Given the description of an element on the screen output the (x, y) to click on. 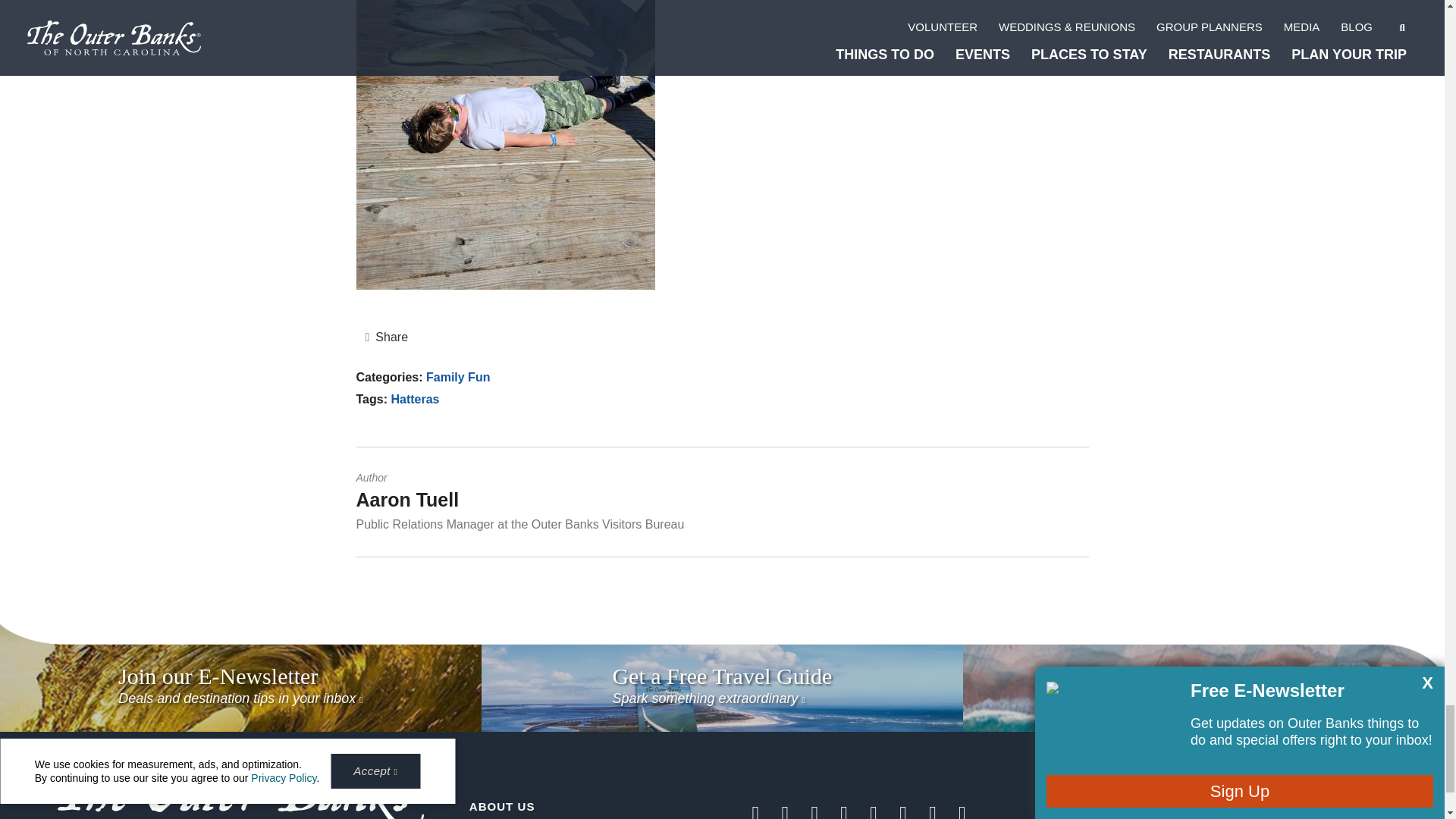
About Us (501, 806)
